Given the description of an element on the screen output the (x, y) to click on. 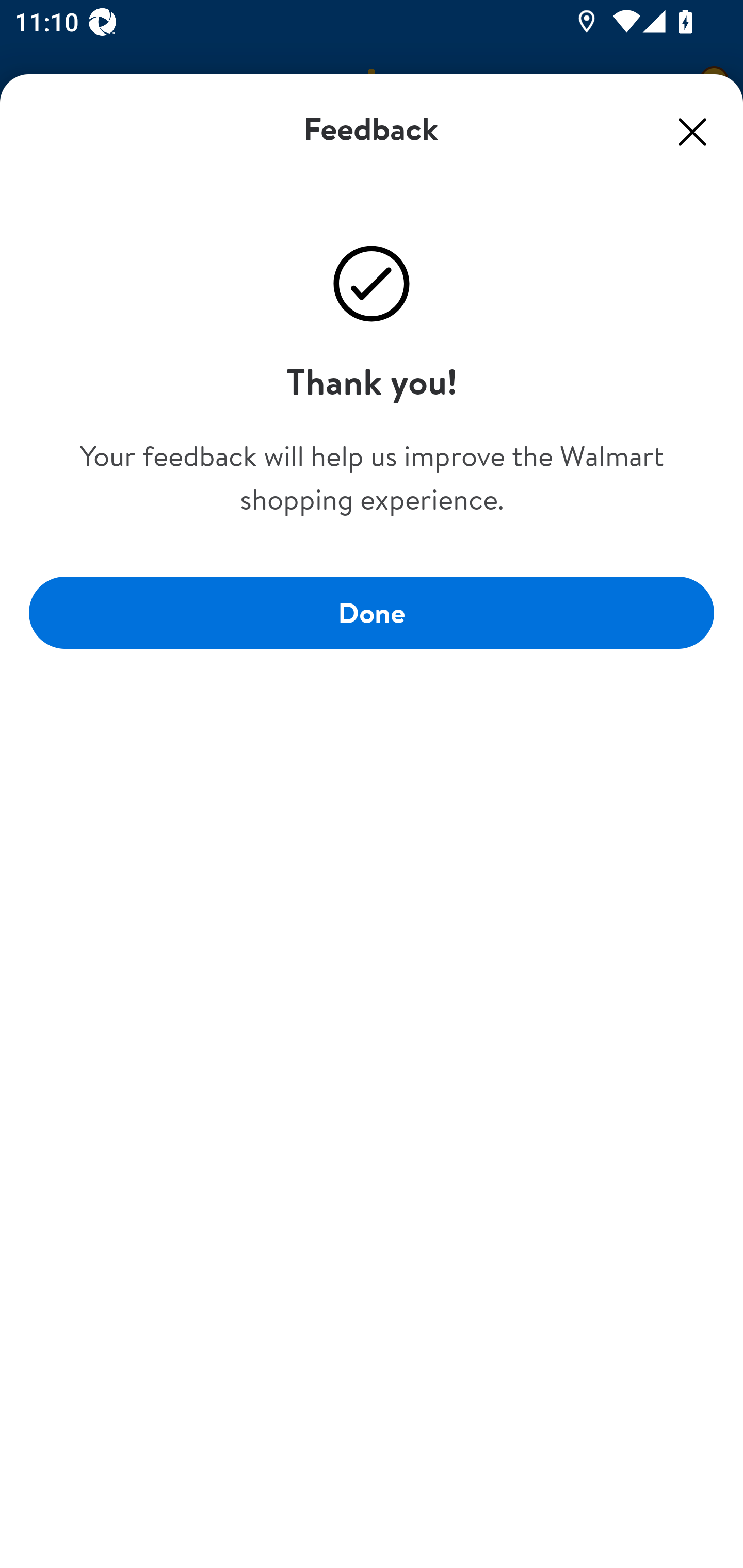
Close (692, 131)
Done (371, 613)
